Given the description of an element on the screen output the (x, y) to click on. 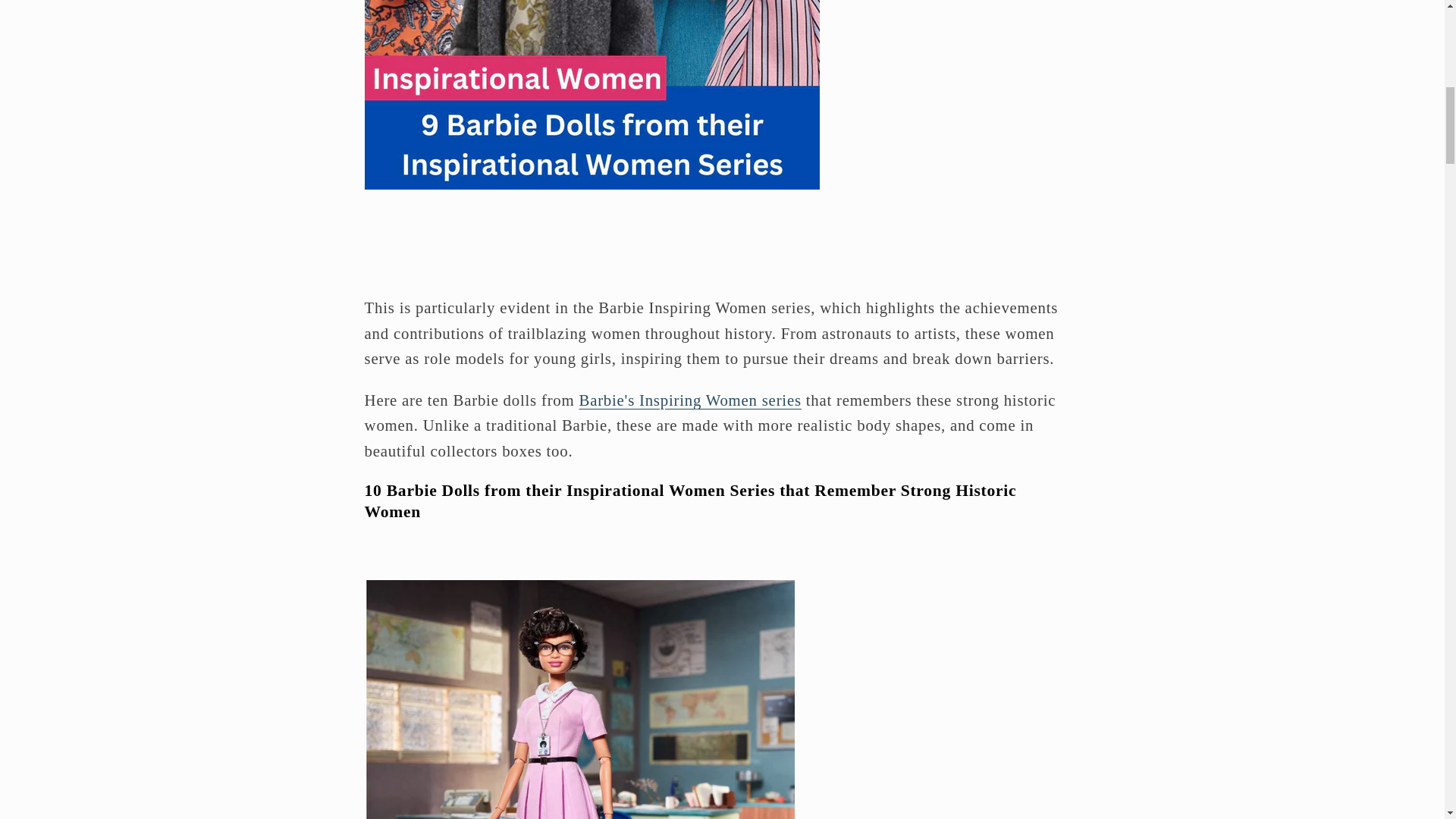
Barbie's Inspiring Women series (689, 399)
